Given the description of an element on the screen output the (x, y) to click on. 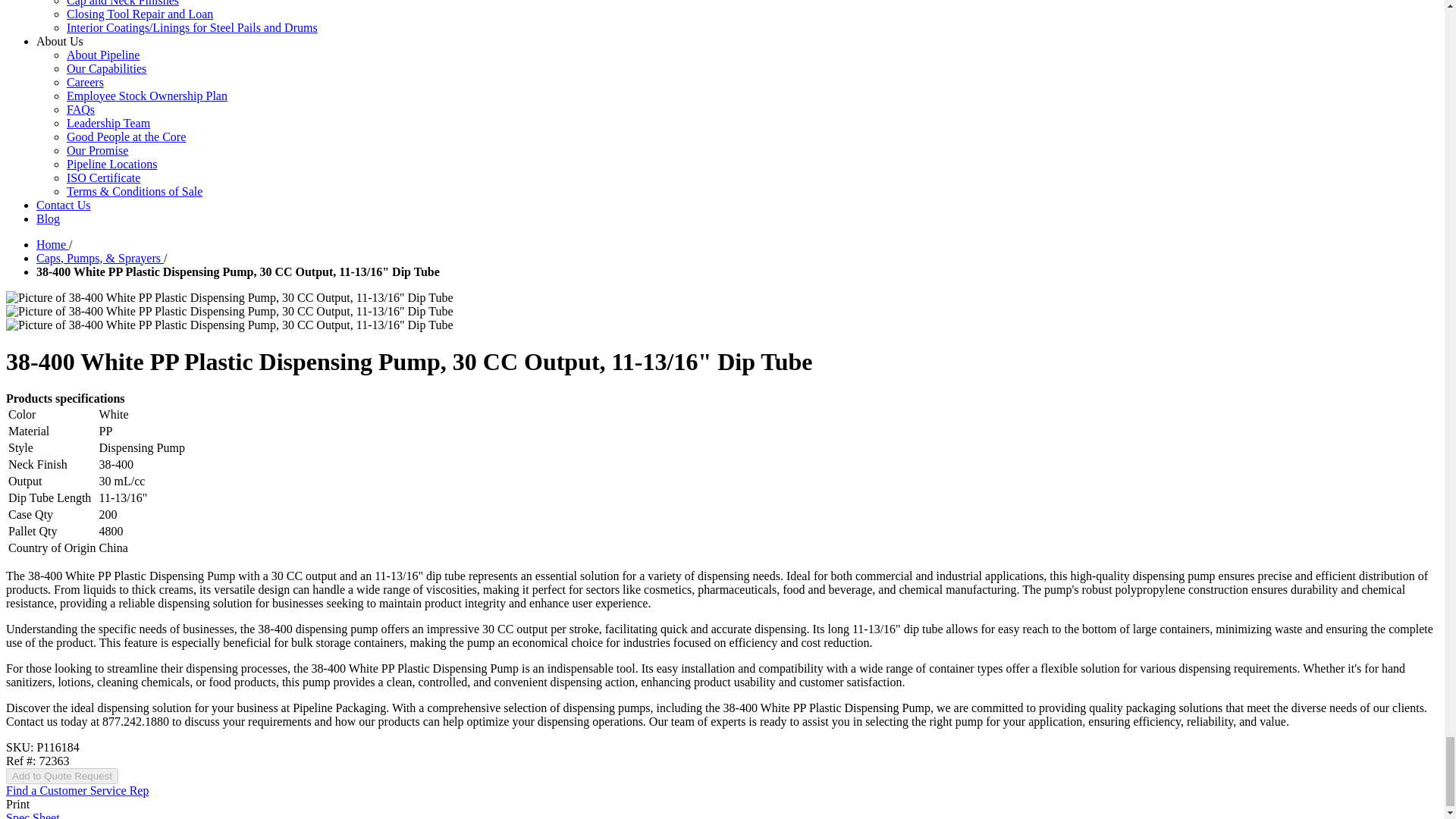
Add to Quote Request (61, 775)
